Given the description of an element on the screen output the (x, y) to click on. 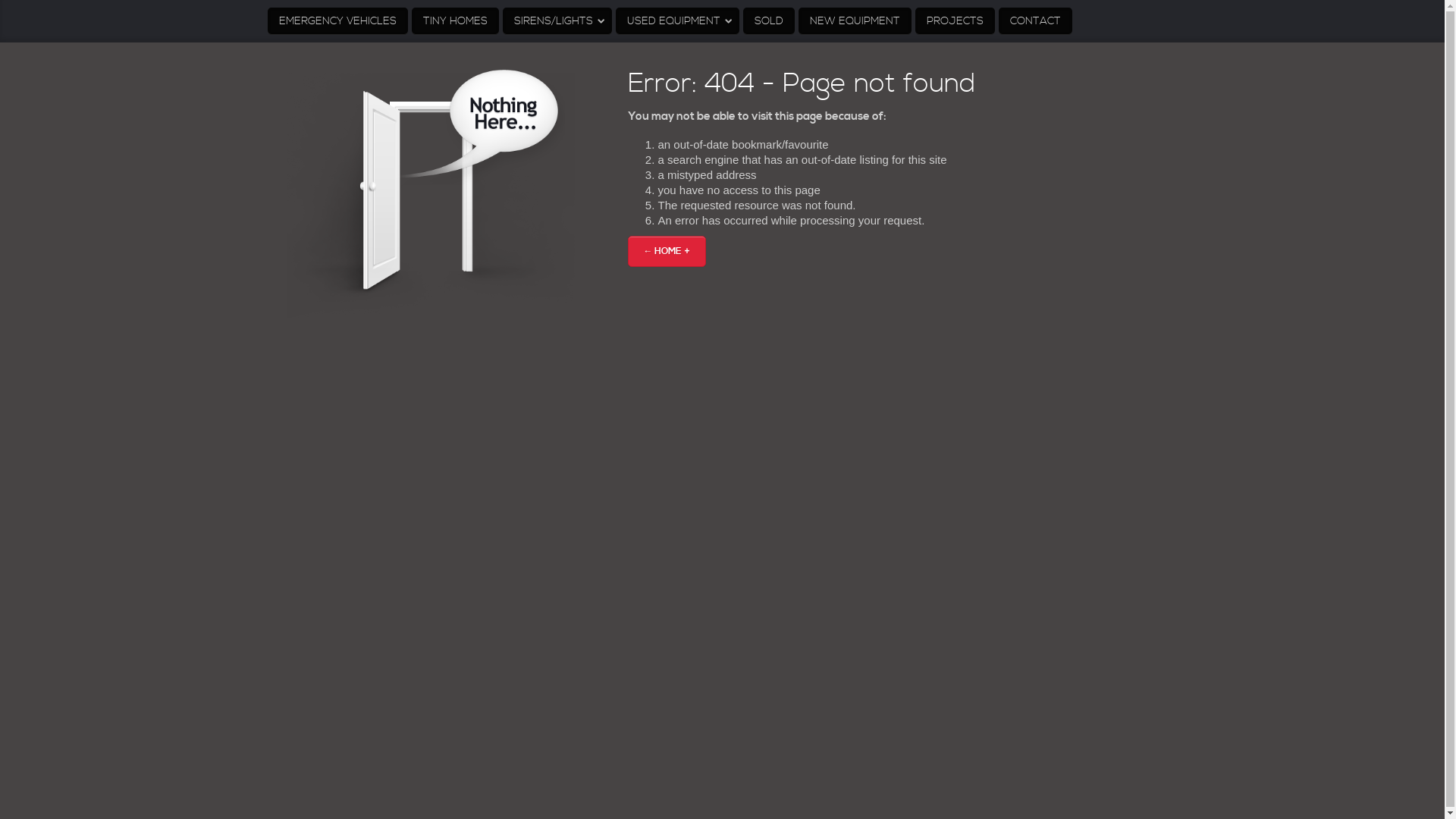
PROJECTS Element type: text (954, 20)
USED EQUIPMENT Element type: text (677, 20)
EMERGENCY VEHICLES Element type: text (336, 20)
TINY HOMES Element type: text (454, 20)
SIRENS/LIGHTS Element type: text (556, 20)
CONTACT Element type: text (1034, 20)
NEW EQUIPMENT Element type: text (853, 20)
SOLD Element type: text (768, 20)
